Given the description of an element on the screen output the (x, y) to click on. 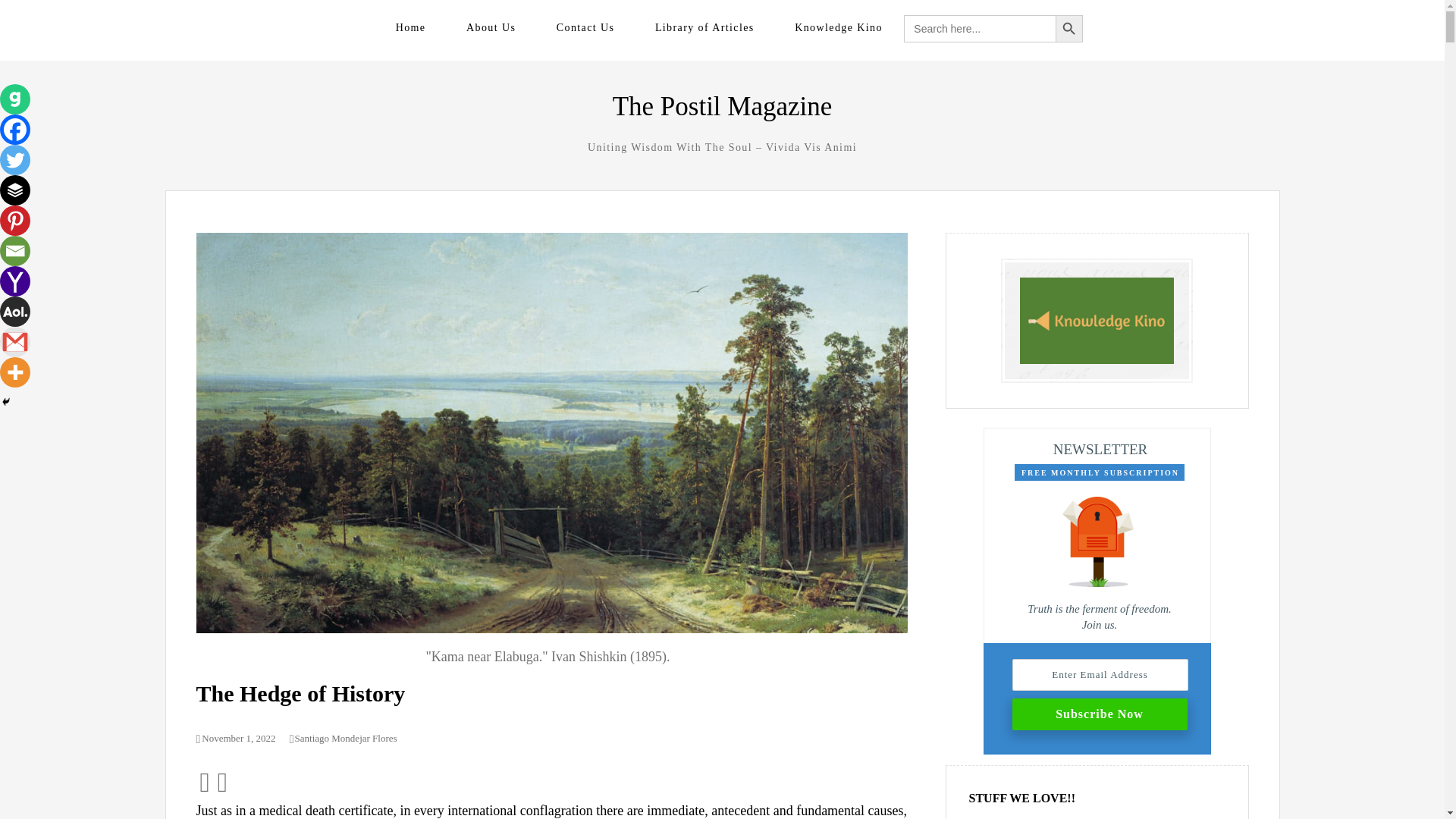
12:00 am (235, 737)
Knowledge Kino (838, 27)
About Us (490, 27)
Contact Us (585, 27)
More (15, 372)
Search Button (1069, 28)
Facebook (15, 129)
Twitter (15, 159)
November 1, 2022 (235, 737)
Skip to content (224, 26)
Library of Articles (704, 27)
Buffer (15, 190)
Pinterest (15, 220)
Yahoo Mail (15, 281)
The Postil Magazine (722, 106)
